Given the description of an element on the screen output the (x, y) to click on. 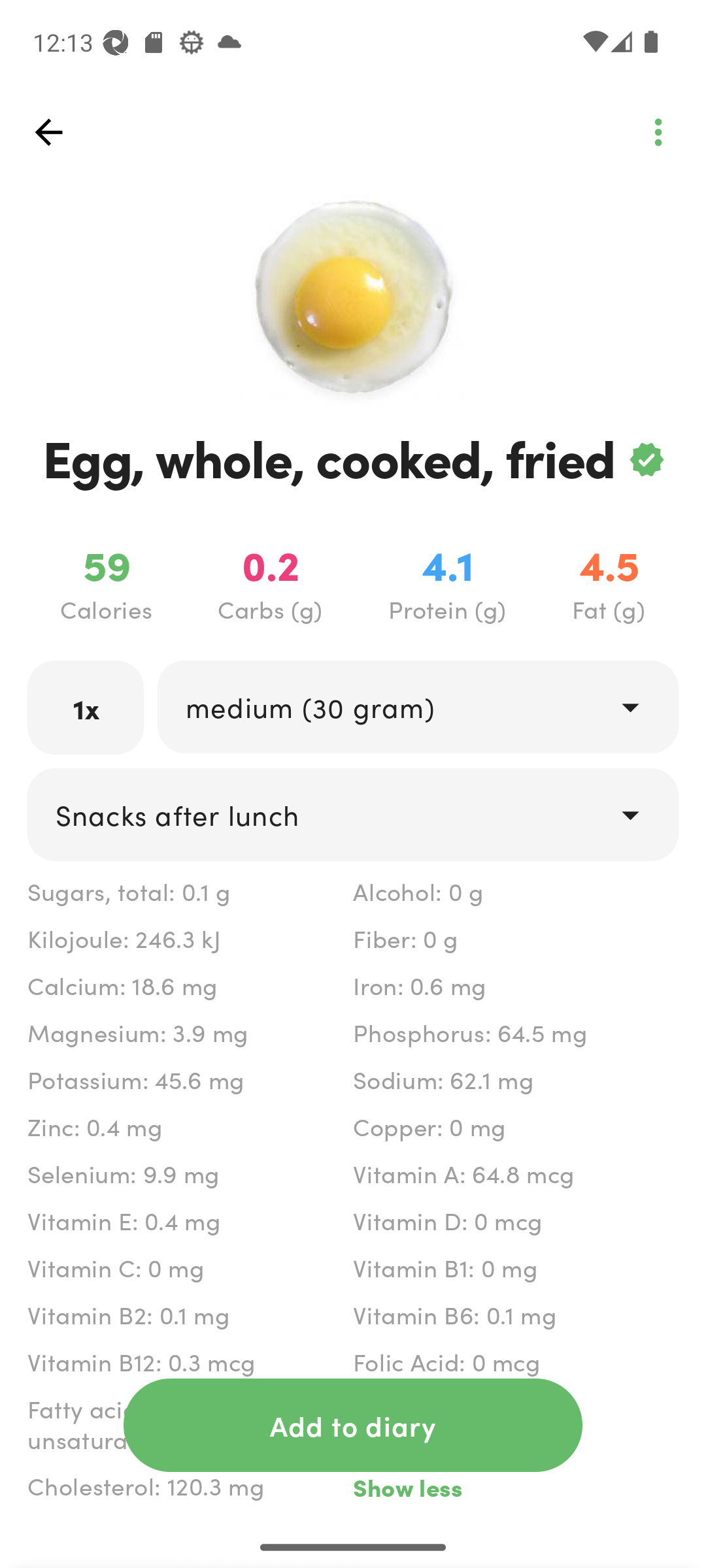
top_left_action (48, 132)
top_left_action (658, 132)
1x labeled_edit_text (85, 707)
drop_down medium (30 gram) (417, 706)
drop_down Snacks after lunch (352, 814)
action_button Add to diary (352, 1425)
Show less (515, 1486)
